Given the description of an element on the screen output the (x, y) to click on. 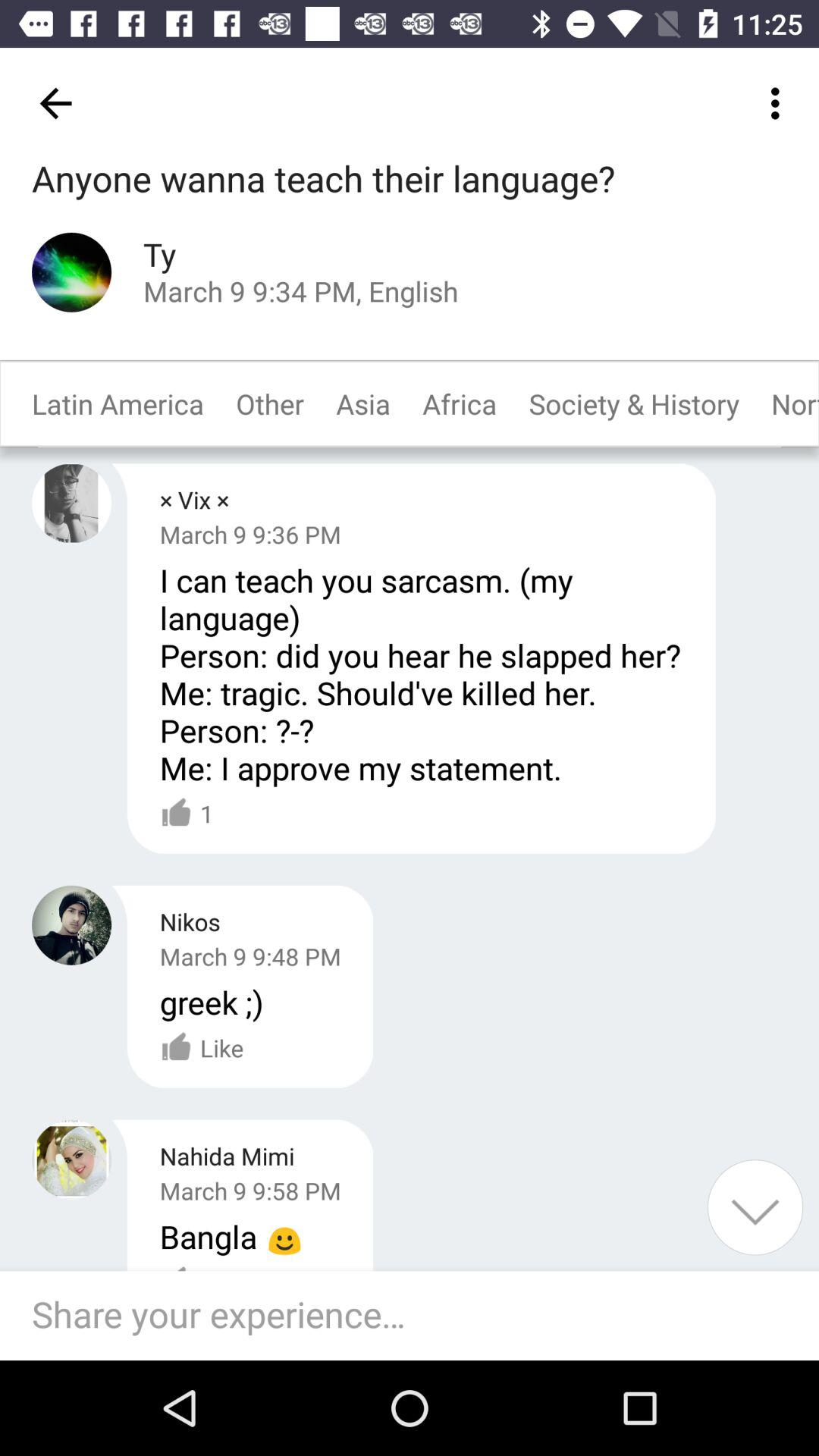
jump until the i can teach (421, 673)
